Given the description of an element on the screen output the (x, y) to click on. 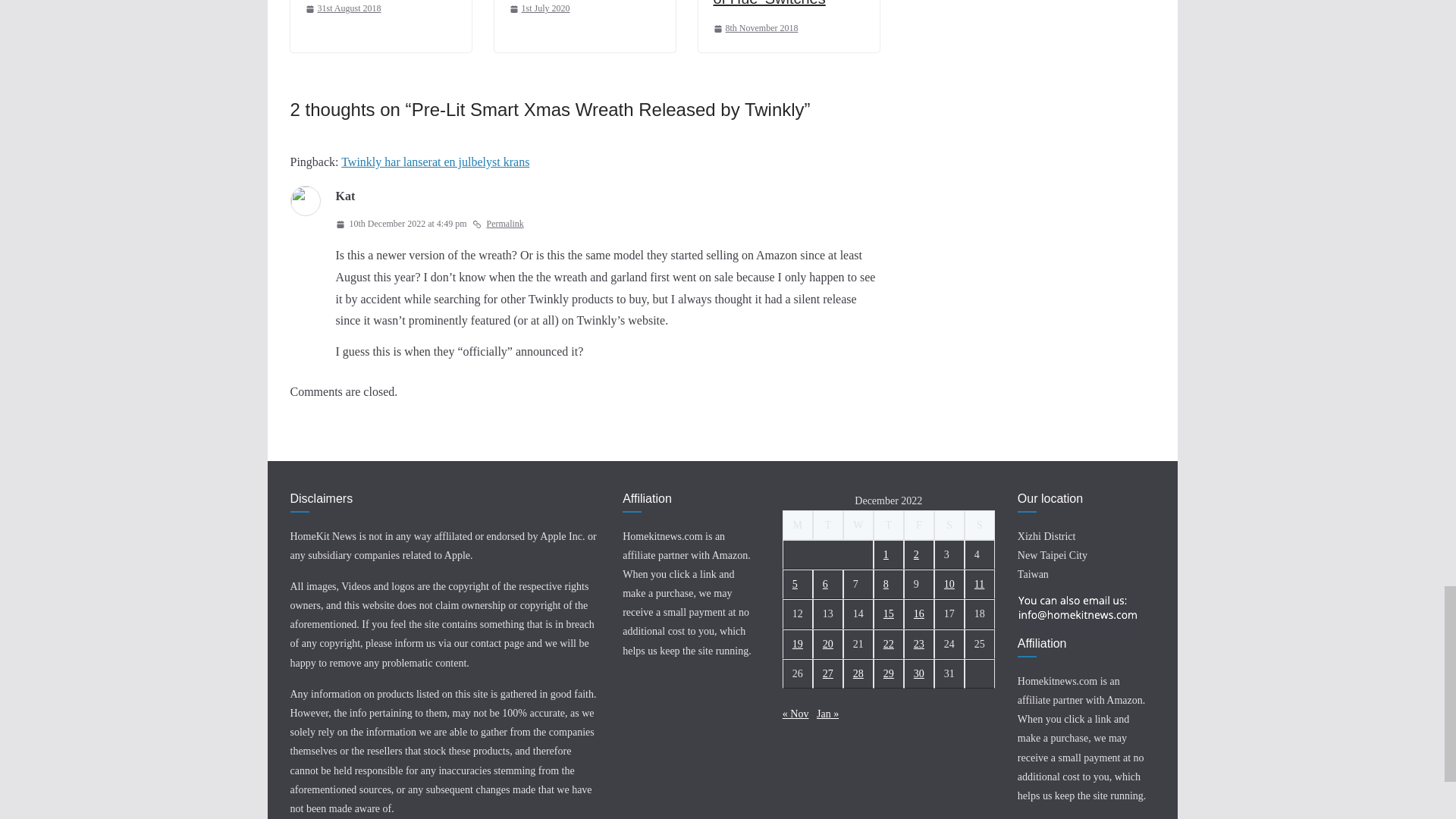
10:45 pm (755, 28)
4:22 pm (539, 8)
2:24 pm (342, 8)
